Given the description of an element on the screen output the (x, y) to click on. 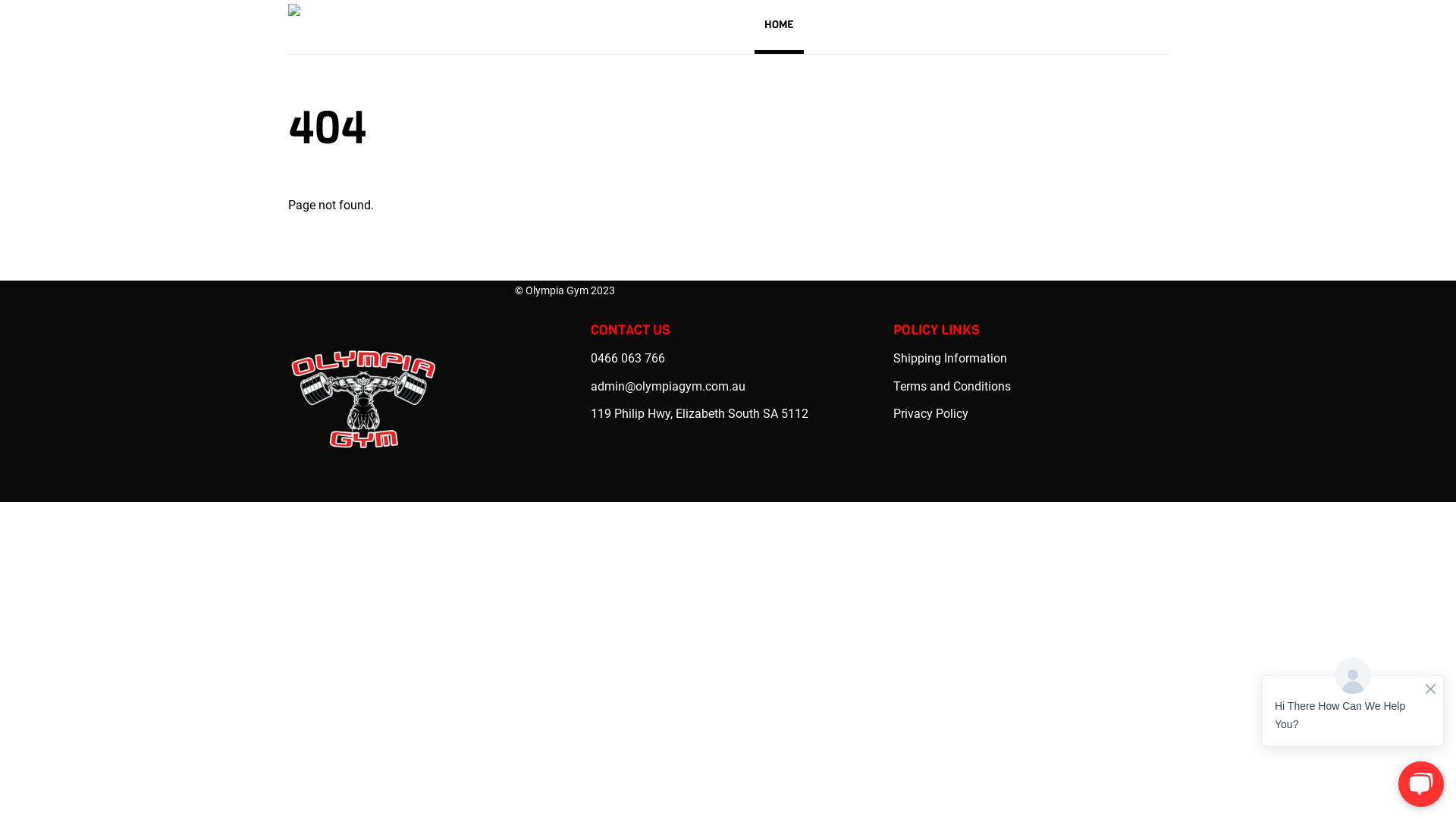
SUPPLEMENTS Element type: text (1011, 26)
admin@olympiagym.com.au Element type: text (667, 386)
Shipping Information Element type: text (950, 358)
MEMBERSHIP Element type: text (849, 26)
Cart Element type: text (1152, 23)
119 Philip Hwy, Elizabeth South SA 5112 Element type: text (699, 413)
Olympia Gym Element type: text (556, 290)
APPAREL Element type: text (928, 26)
HOME Element type: text (778, 26)
ABOUT US Element type: text (1094, 26)
0466 063 766 Element type: text (627, 358)
Olympia Logo (Vivid) (No BG) Element type: hover (401, 21)
Terms and Conditions Element type: text (951, 386)
Privacy Policy Element type: text (930, 413)
